Given the description of an element on the screen output the (x, y) to click on. 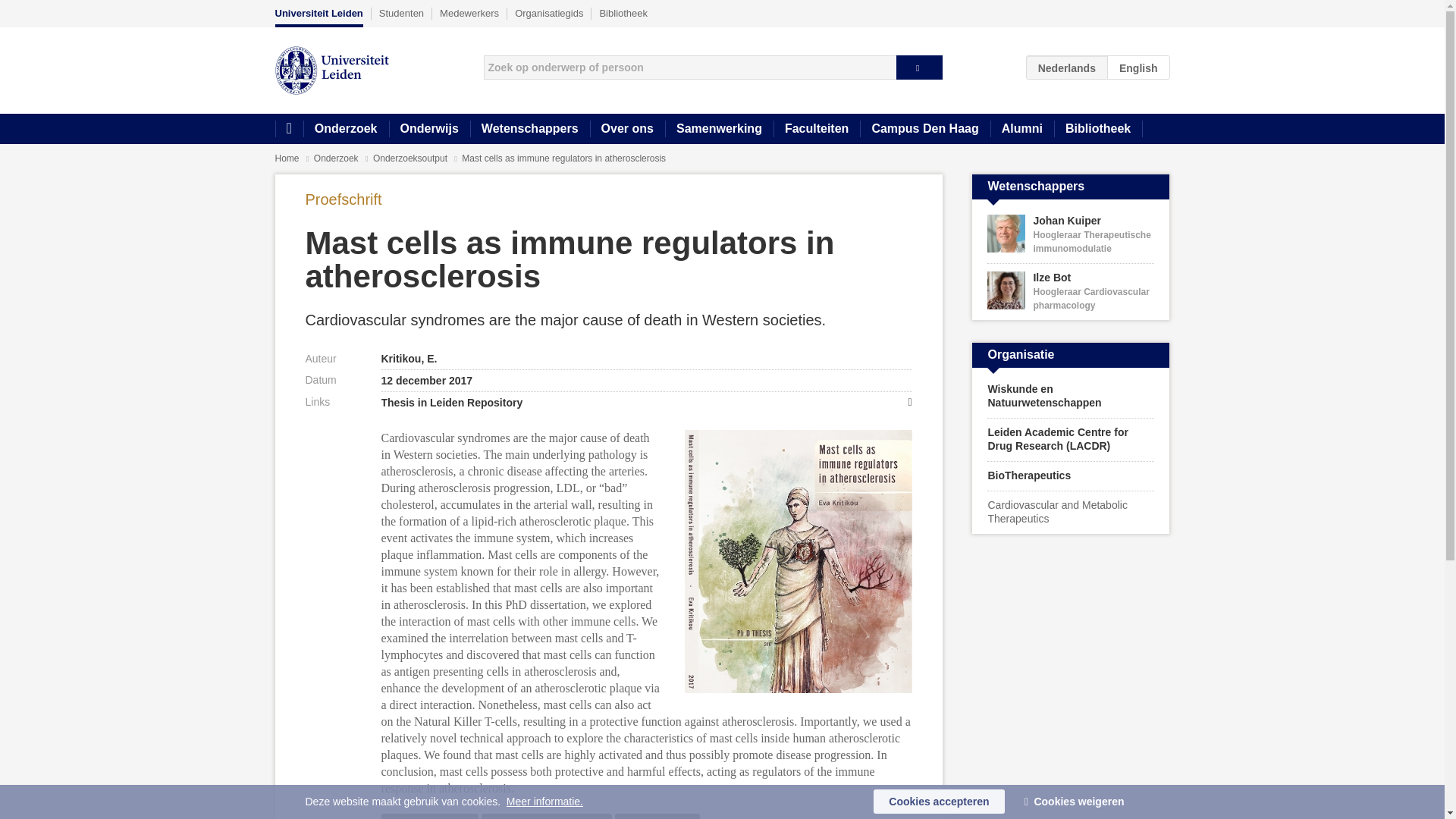
Onderzoek (337, 158)
Home (286, 158)
CARDIOVASCULAR DISEASE (545, 816)
Home (288, 128)
ATHEROSCLEROSIS (428, 816)
Over ons (627, 128)
Zoeken (919, 67)
Onderzoeksoutput (410, 158)
Alumni (1022, 128)
Universiteit Leiden (318, 17)
Medewerkers (469, 13)
Thesis in Leiden Repository (645, 402)
Onderzoek (345, 128)
Bibliotheek (1097, 128)
Campus Den Haag (925, 128)
